Given the description of an element on the screen output the (x, y) to click on. 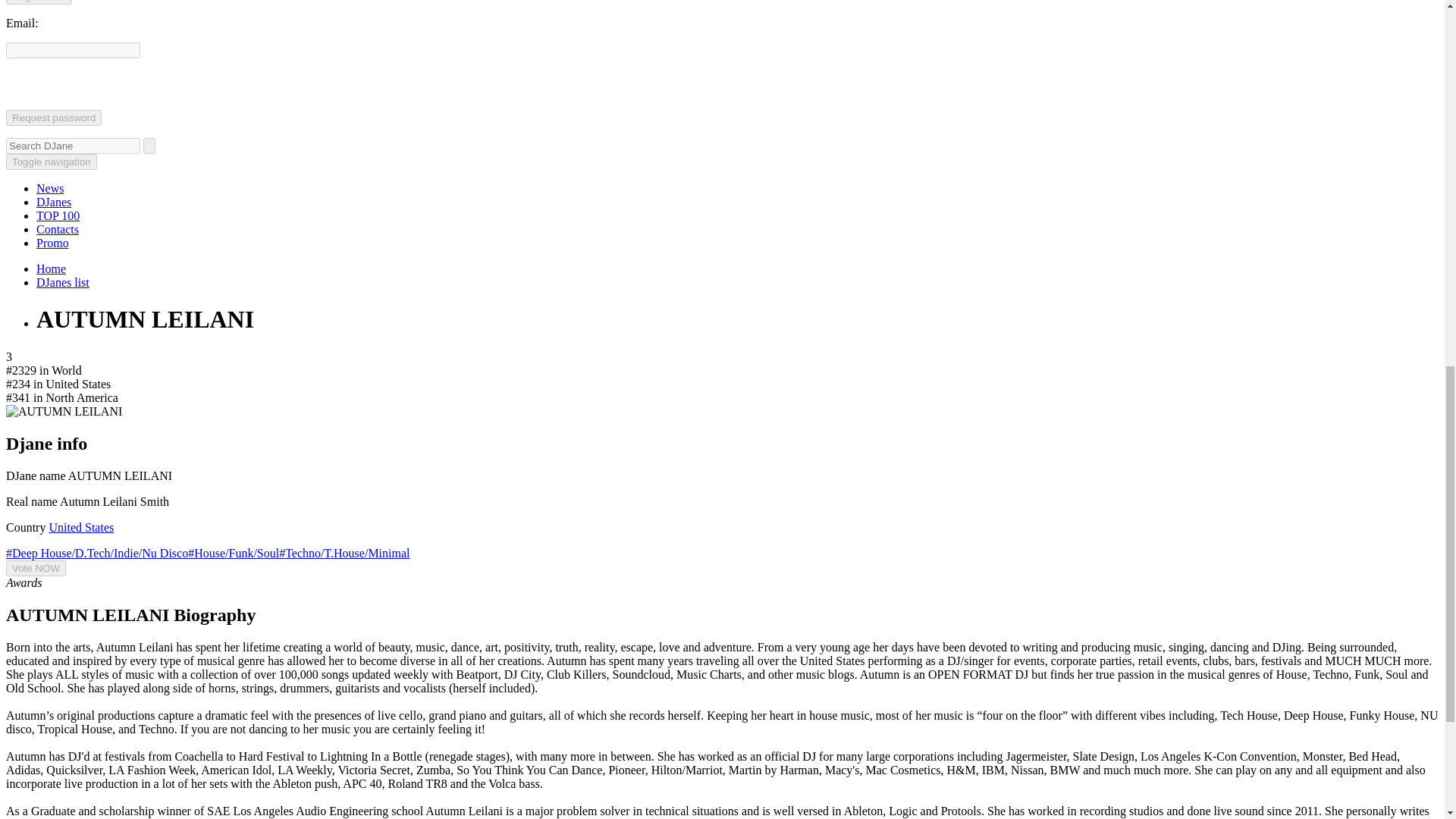
Contacts (57, 228)
United States (80, 526)
DJanes (53, 201)
Registration (38, 2)
Promo (52, 242)
Request password (53, 117)
Home (50, 268)
DJanes (53, 201)
Request password (53, 117)
Toggle navigation (51, 161)
News (50, 187)
Registration (38, 2)
Promo (52, 242)
Contacts (57, 228)
TOP 100 (58, 215)
